Given the description of an element on the screen output the (x, y) to click on. 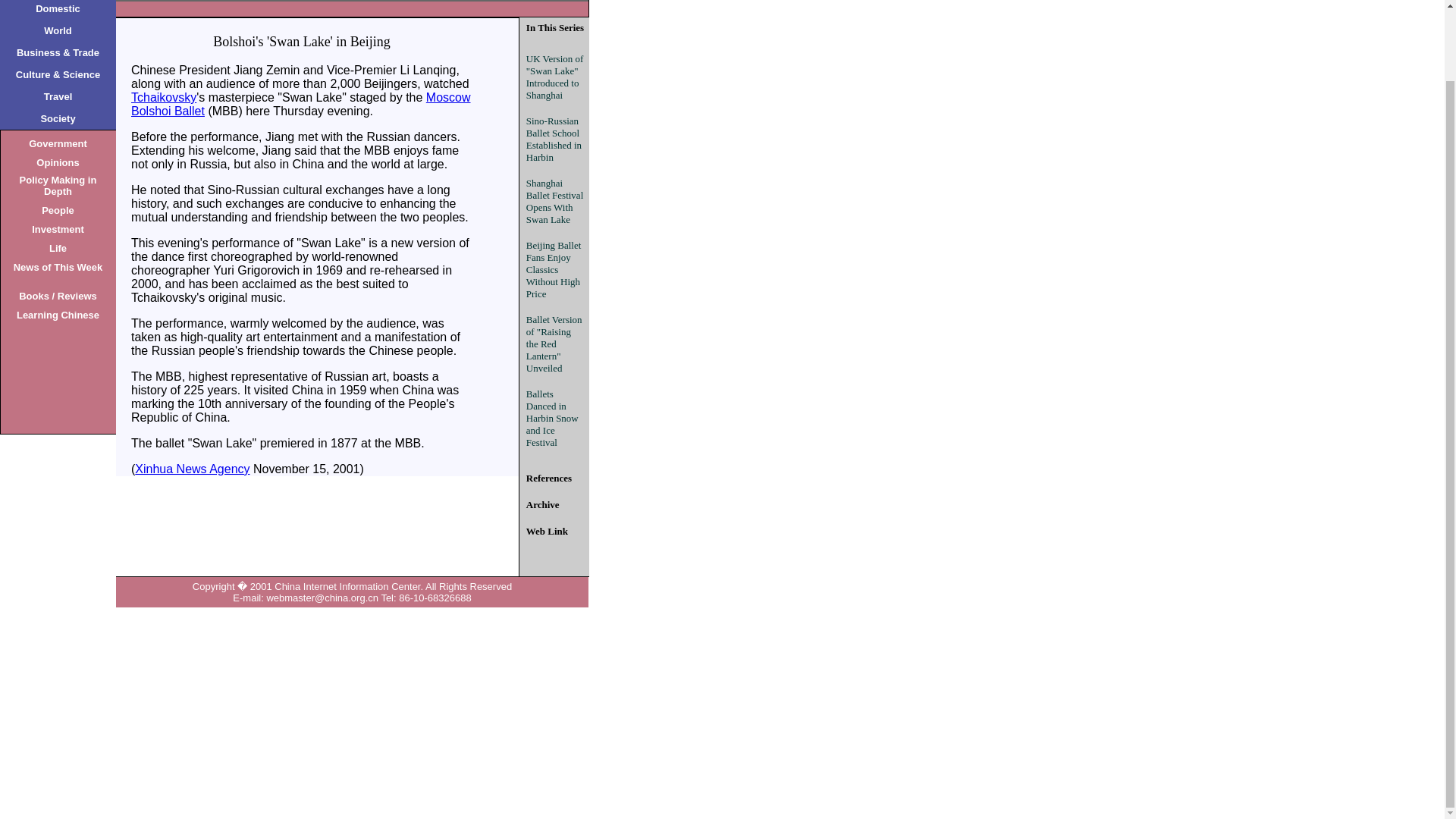
Life (57, 246)
Domestic (57, 7)
Learning Chinese (57, 314)
Investment (58, 228)
Sino-Russian Ballet School Established in Harbin (552, 137)
World (57, 29)
Shanghai Ballet Festival Opens With Swan Lake (554, 200)
Xinhua News Agency (191, 468)
Government (58, 142)
News of This Week (58, 266)
